Given the description of an element on the screen output the (x, y) to click on. 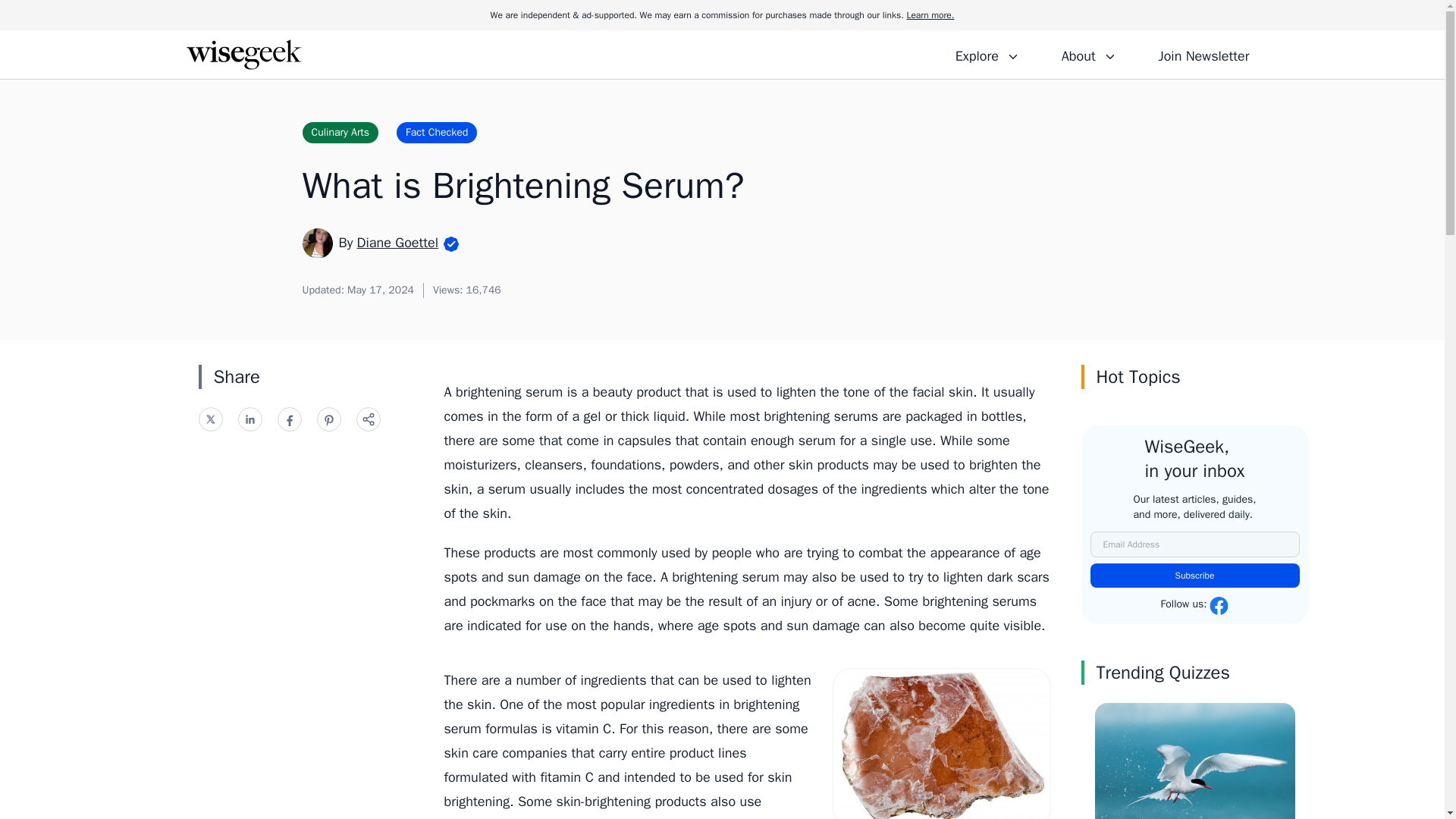
Join Newsletter (1202, 54)
Diane Goettel (397, 242)
Subscribe (1195, 575)
Culinary Arts (339, 132)
About (1088, 54)
Fact Checked (436, 132)
Learn more. (929, 15)
Explore (986, 54)
Follow us: (1194, 606)
